Given the description of an element on the screen output the (x, y) to click on. 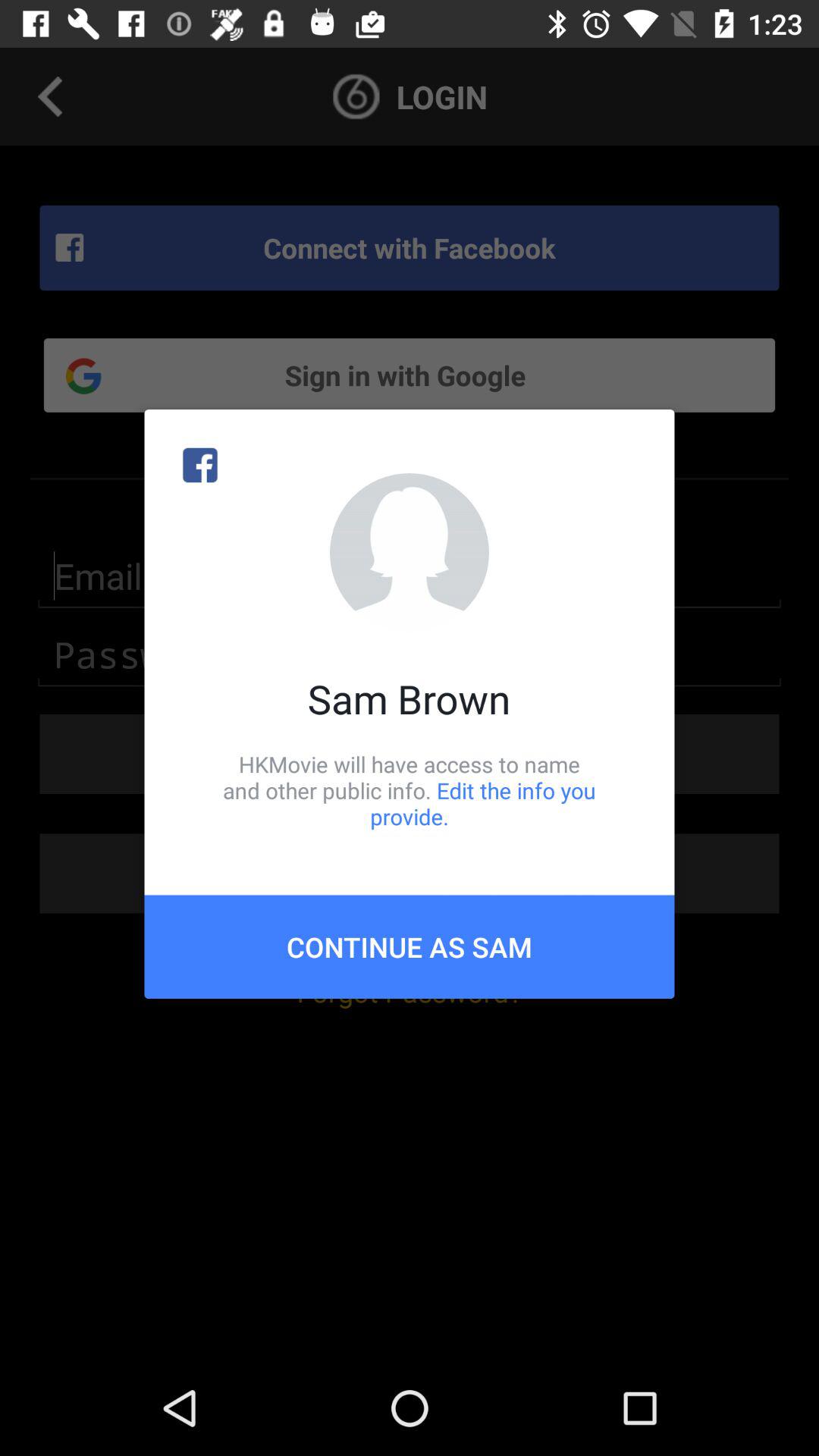
open the icon below sam brown (409, 790)
